Given the description of an element on the screen output the (x, y) to click on. 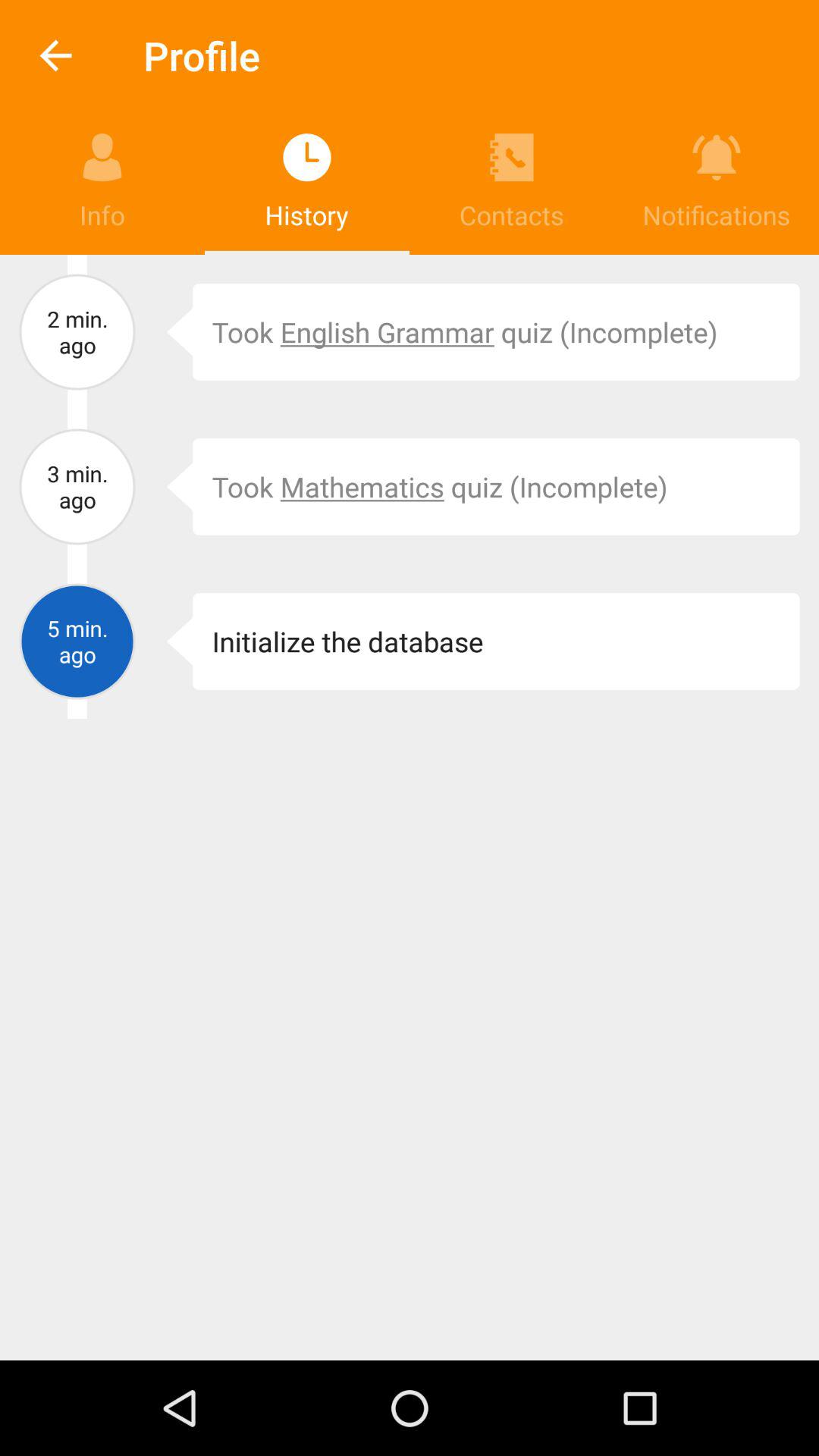
turn off icon above initialize the database (168, 486)
